Given the description of an element on the screen output the (x, y) to click on. 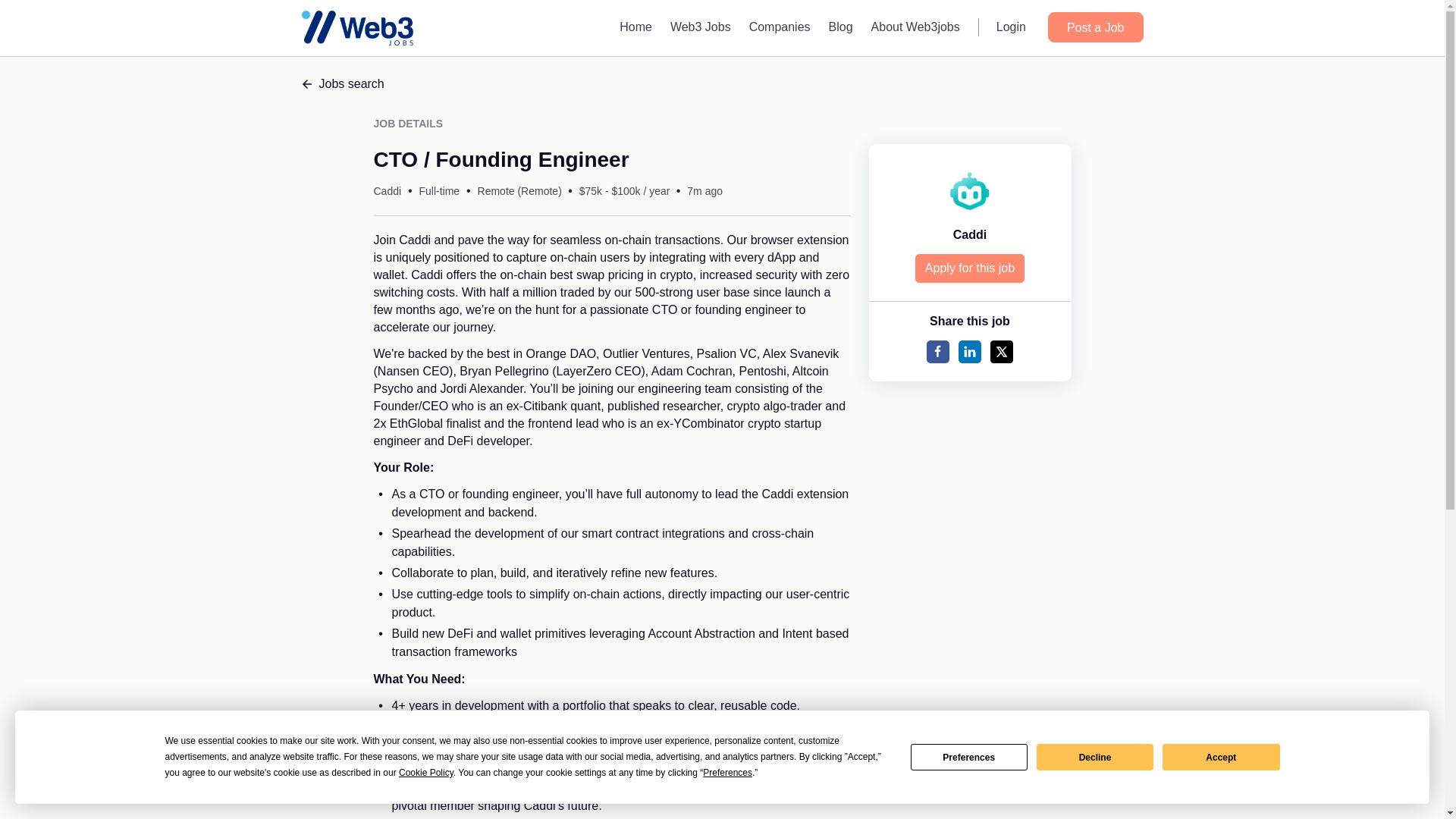
Companies (779, 26)
Post a Job (1095, 27)
Preferences (969, 756)
Web3 Jobs (700, 26)
Accept (1220, 756)
Share to Twitter (1001, 351)
About Web3jobs (915, 26)
Apply for this job (970, 267)
Caddi (970, 234)
Share to FB (937, 351)
Share to Linkedin (969, 351)
Login (1011, 26)
Full-time (439, 191)
Jobs search (721, 84)
Blog (840, 26)
